Given the description of an element on the screen output the (x, y) to click on. 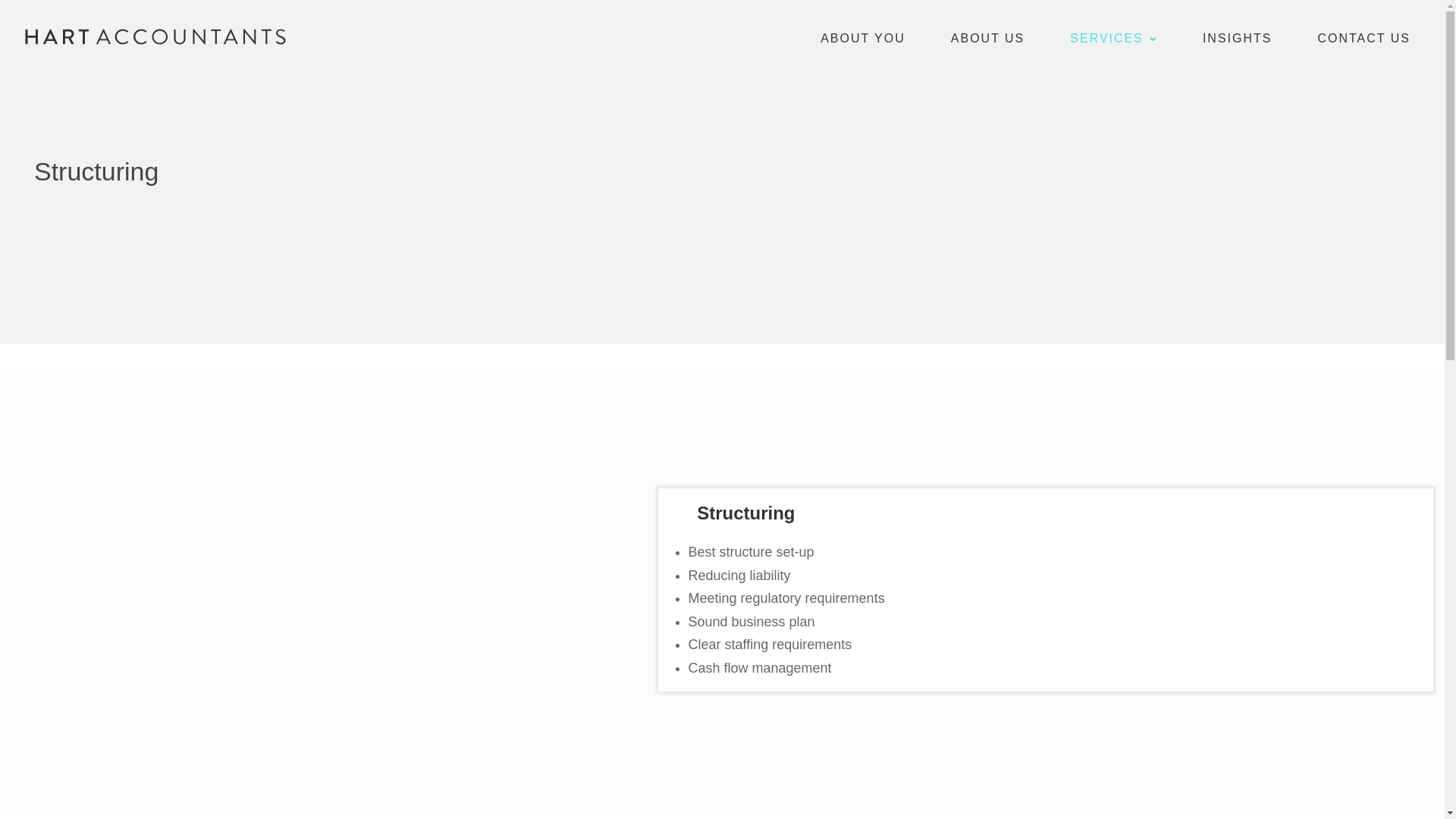
ABOUT YOU Element type: text (862, 36)
INSIGHTS Element type: text (1237, 36)
SERVICES Element type: text (1113, 36)
ABOUT US Element type: text (987, 36)
CONTACT US Element type: text (1363, 36)
